Given the description of an element on the screen output the (x, y) to click on. 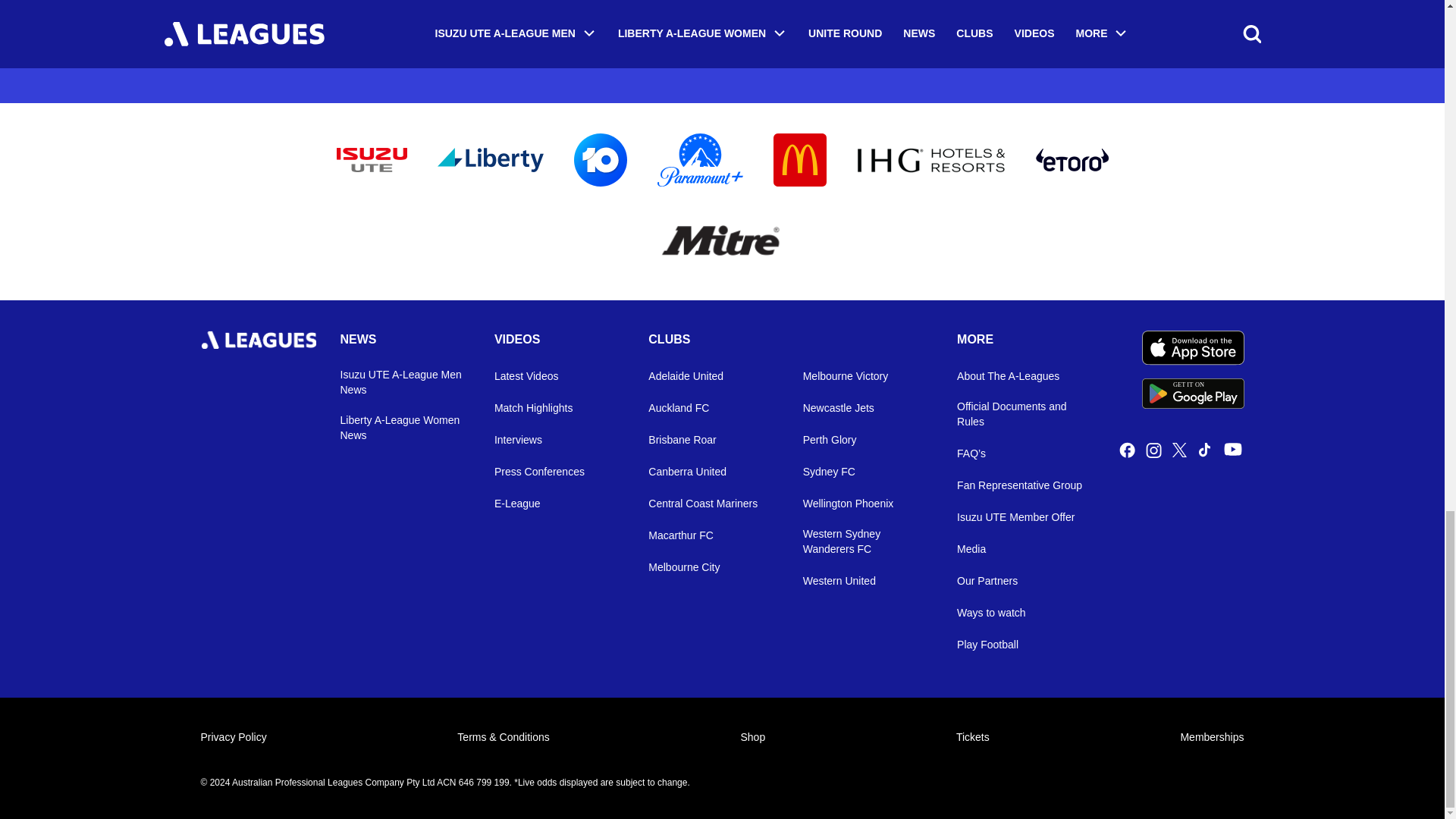
Mitre (1192, 392)
Paramount (722, 243)
Liberty (699, 159)
Isuzu UTE (489, 159)
McDonalds (371, 159)
eToro (800, 159)
IHG (1071, 159)
Channel 10 (931, 159)
